Given the description of an element on the screen output the (x, y) to click on. 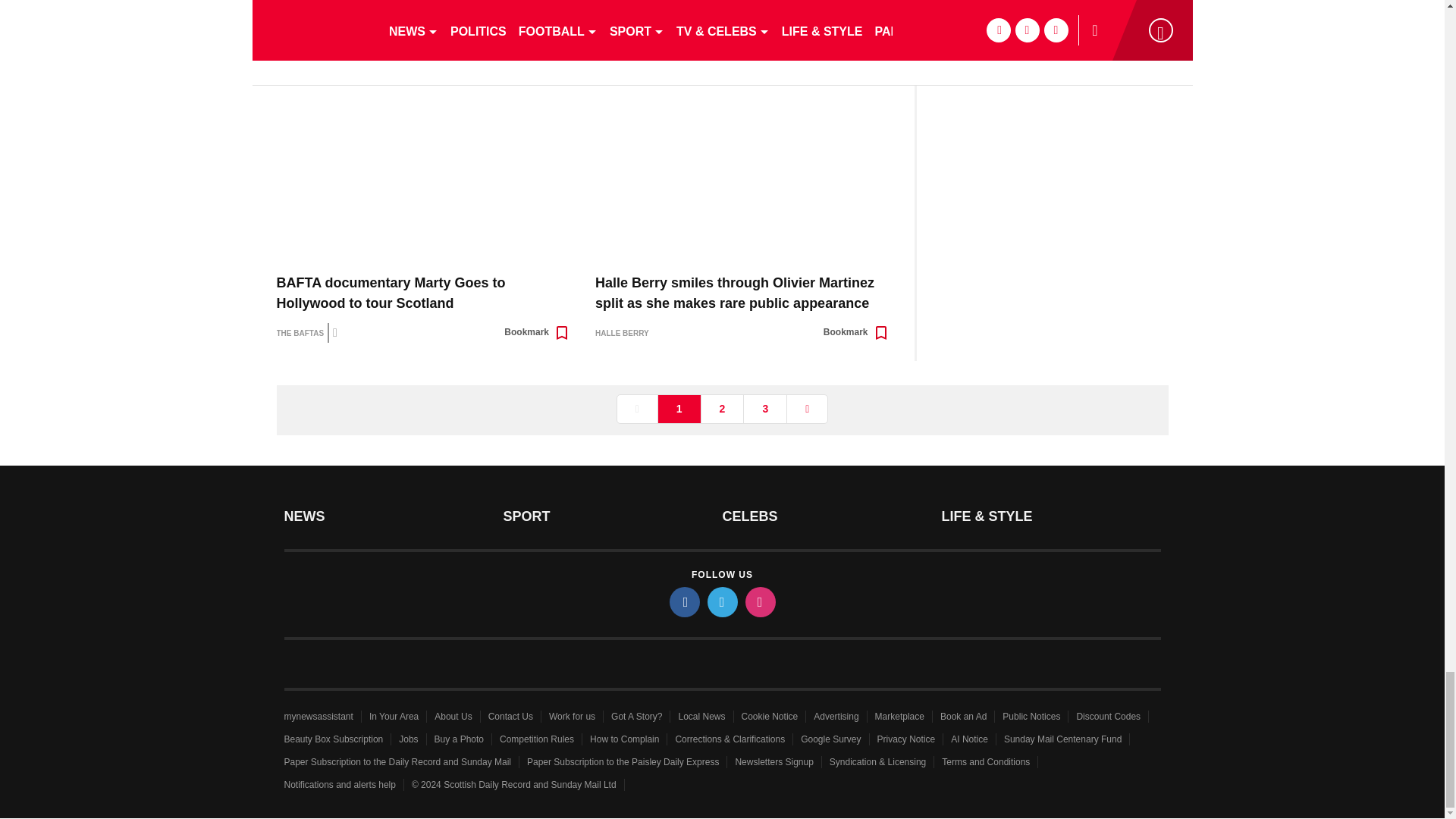
twitter (721, 602)
facebook (683, 602)
instagram (759, 602)
